Given the description of an element on the screen output the (x, y) to click on. 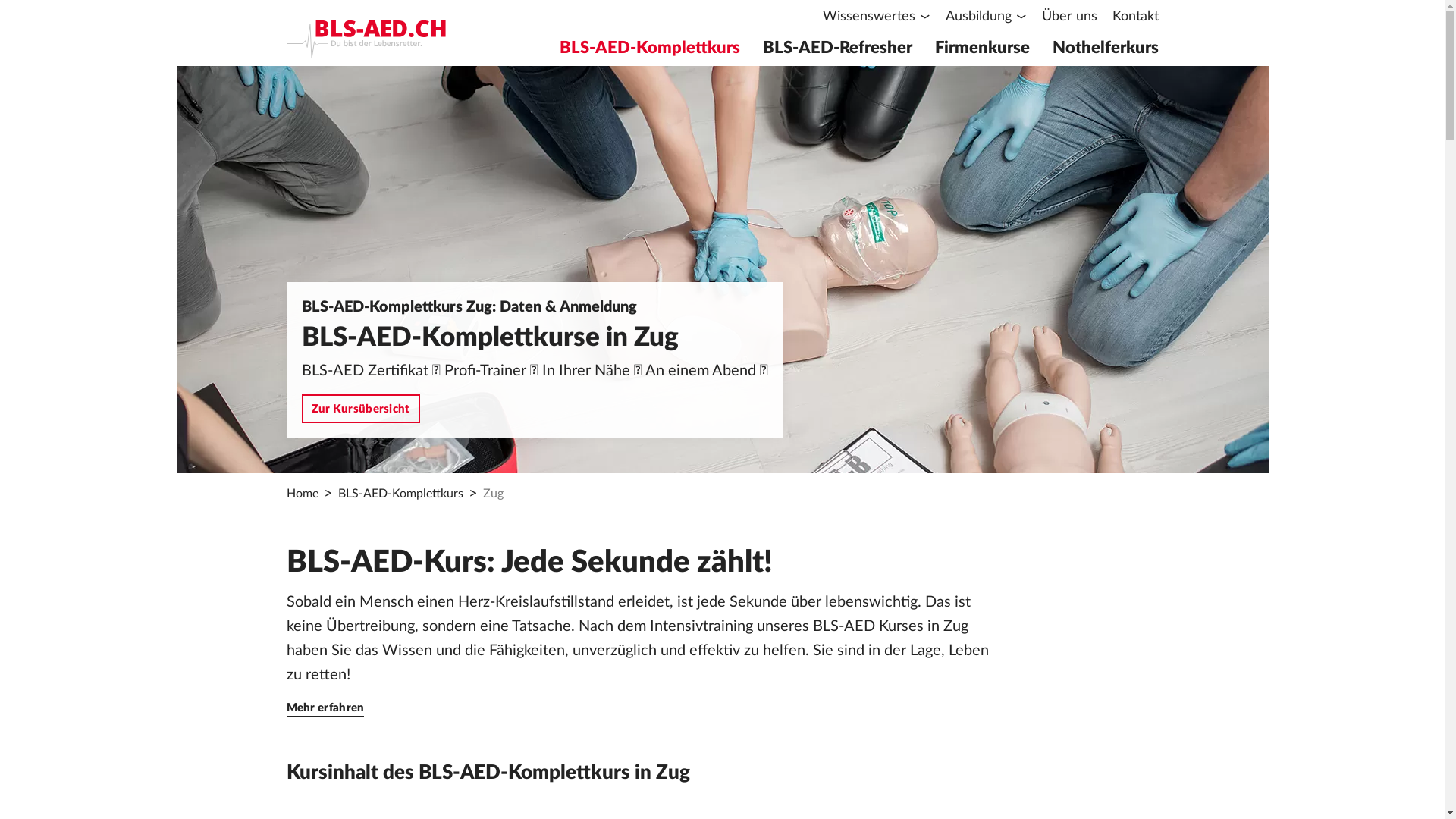
Home Element type: text (302, 492)
Mehr erfahren Element type: text (325, 708)
BLS-AED-Refresher Element type: text (837, 52)
Ausbildung Element type: text (985, 16)
Firmenkurse Element type: text (981, 52)
Wissenswertes Element type: text (875, 16)
BLS-AED-Komplettkurs Element type: text (649, 52)
BLS-AED-Komplettkurs Element type: text (400, 492)
Nothelferkurs Element type: text (1105, 52)
Kontakt Element type: text (1134, 16)
